Given the description of an element on the screen output the (x, y) to click on. 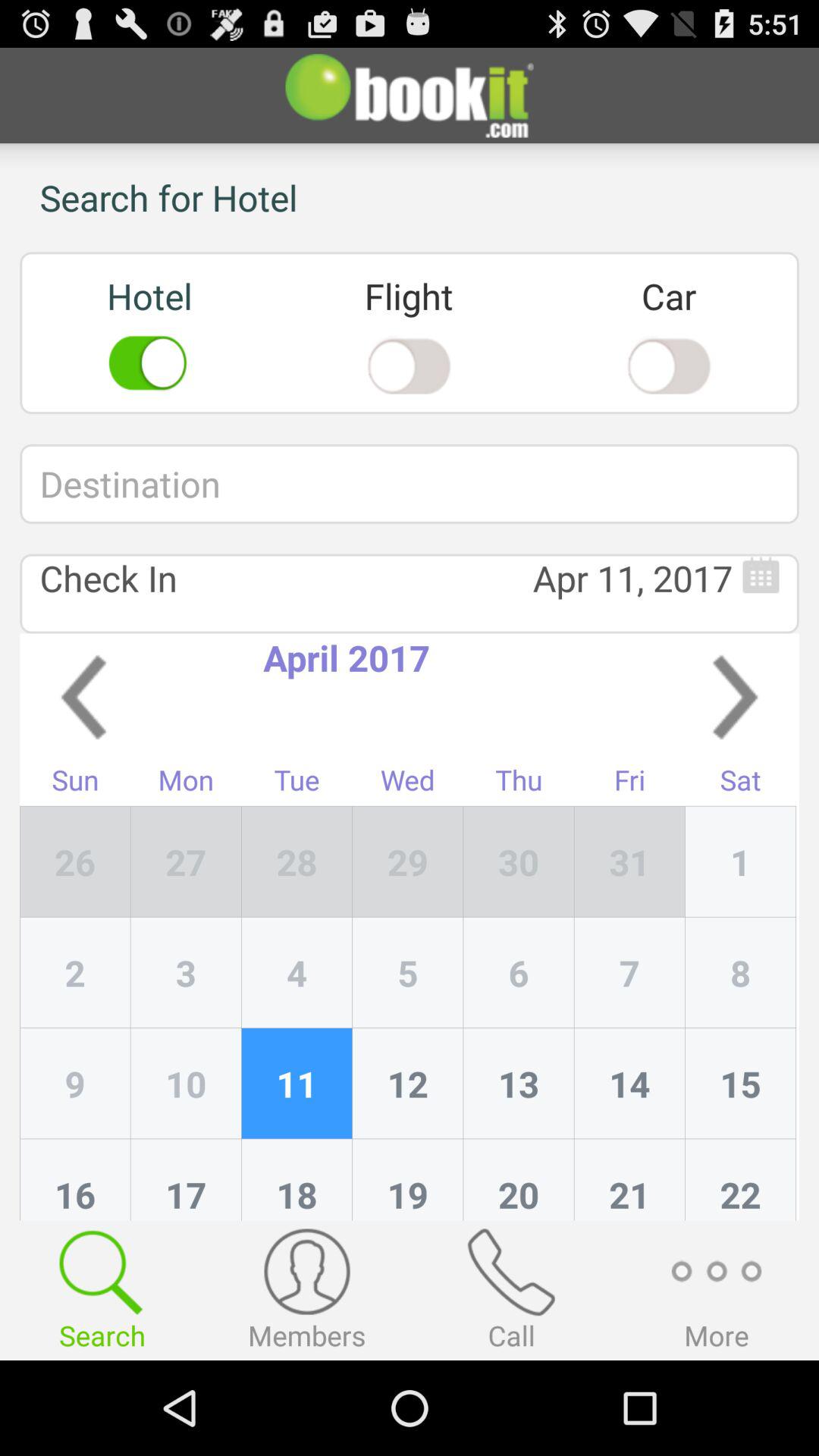
launch icon below tue item (407, 861)
